Given the description of an element on the screen output the (x, y) to click on. 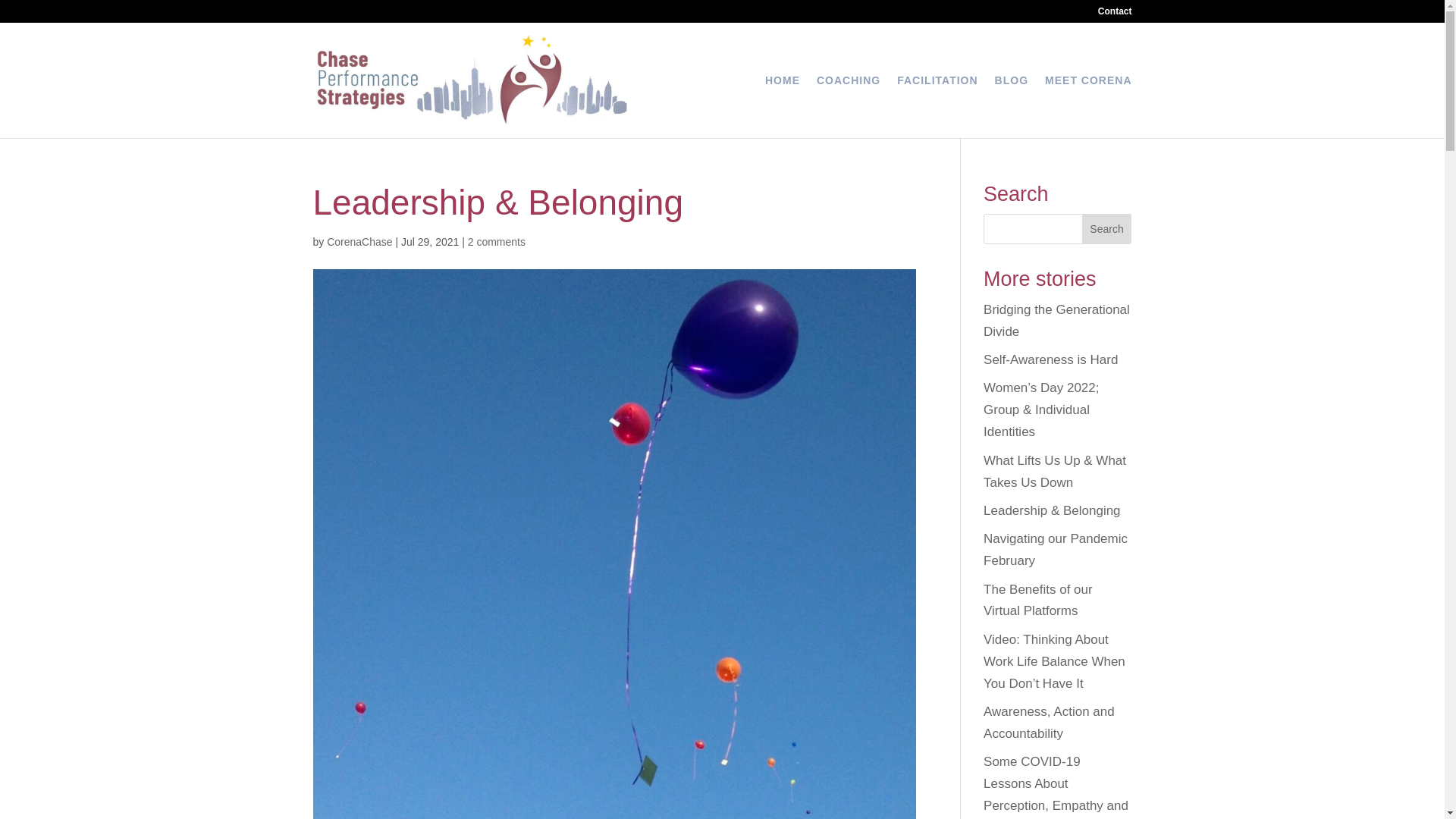
CorenaChase (358, 241)
2 comments (496, 241)
MEET CORENA (1088, 106)
Contact (1114, 14)
Self-Awareness is Hard (1051, 359)
Bridging the Generational Divide (1056, 320)
COACHING (848, 106)
FACILITATION (936, 106)
Posts by CorenaChase (358, 241)
